Given the description of an element on the screen output the (x, y) to click on. 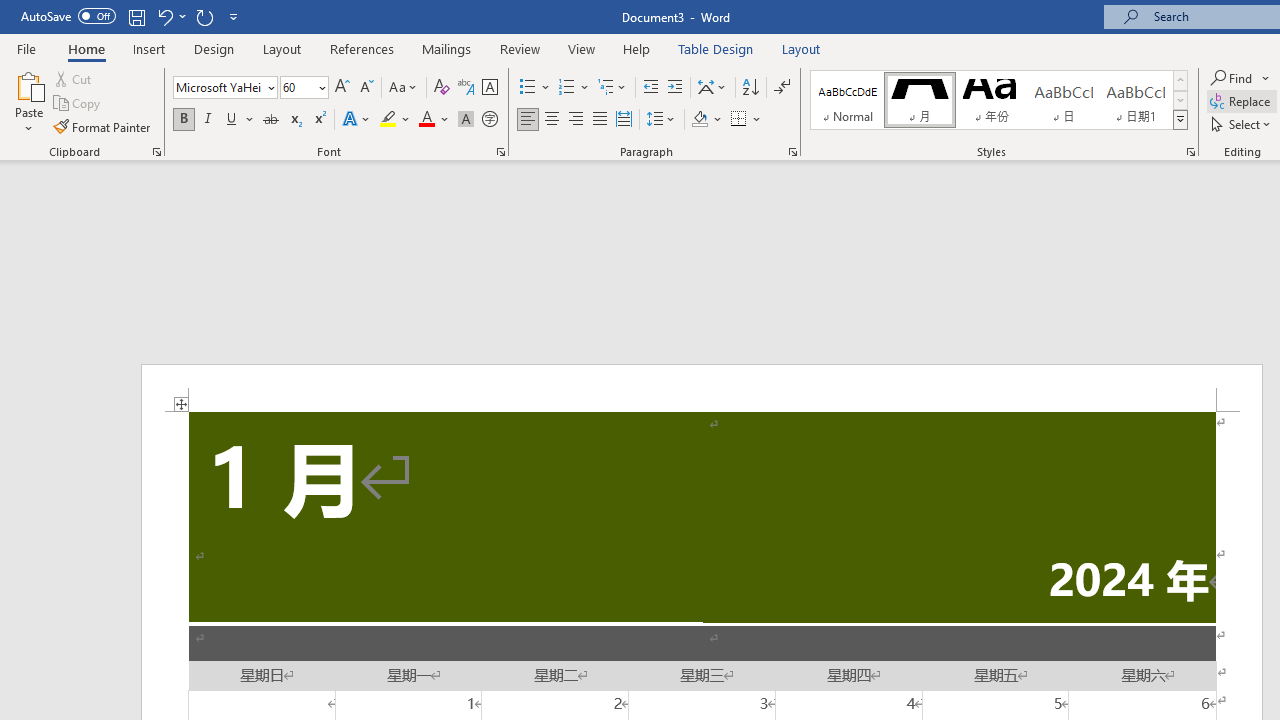
Font (224, 87)
Insert (149, 48)
Align Right (575, 119)
AutomationID: QuickStylesGallery (999, 99)
Copy (78, 103)
Styles... (1190, 151)
Font Size (304, 87)
Undo Apply Quick Style (164, 15)
Review (520, 48)
Text Highlight Color Yellow (388, 119)
Shading RGB(0, 0, 0) (699, 119)
Help (637, 48)
Design (214, 48)
Cut (73, 78)
